Given the description of an element on the screen output the (x, y) to click on. 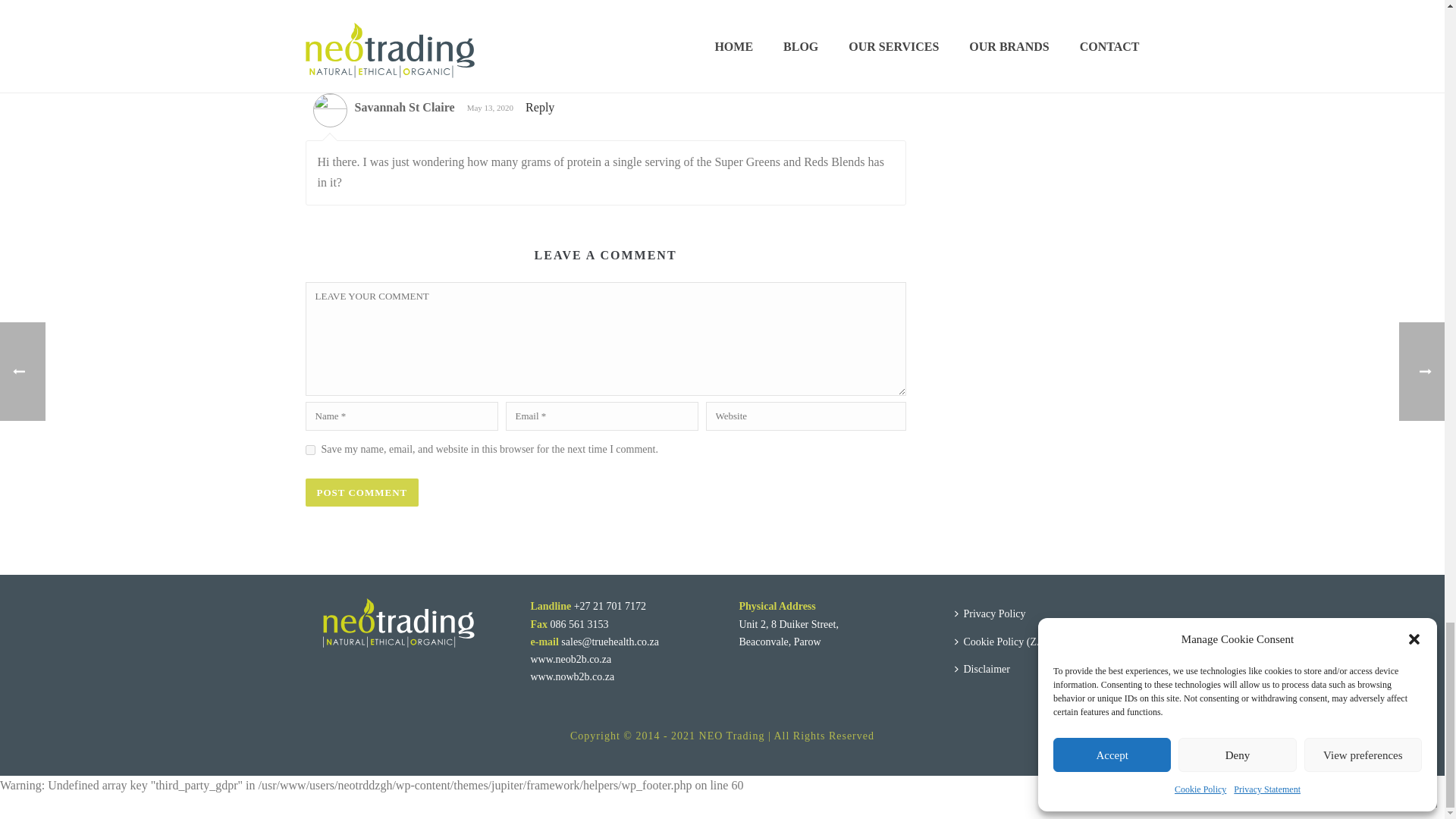
Reply (539, 106)
yes (309, 450)
POST COMMENT (361, 492)
POST COMMENT (361, 492)
